Given the description of an element on the screen output the (x, y) to click on. 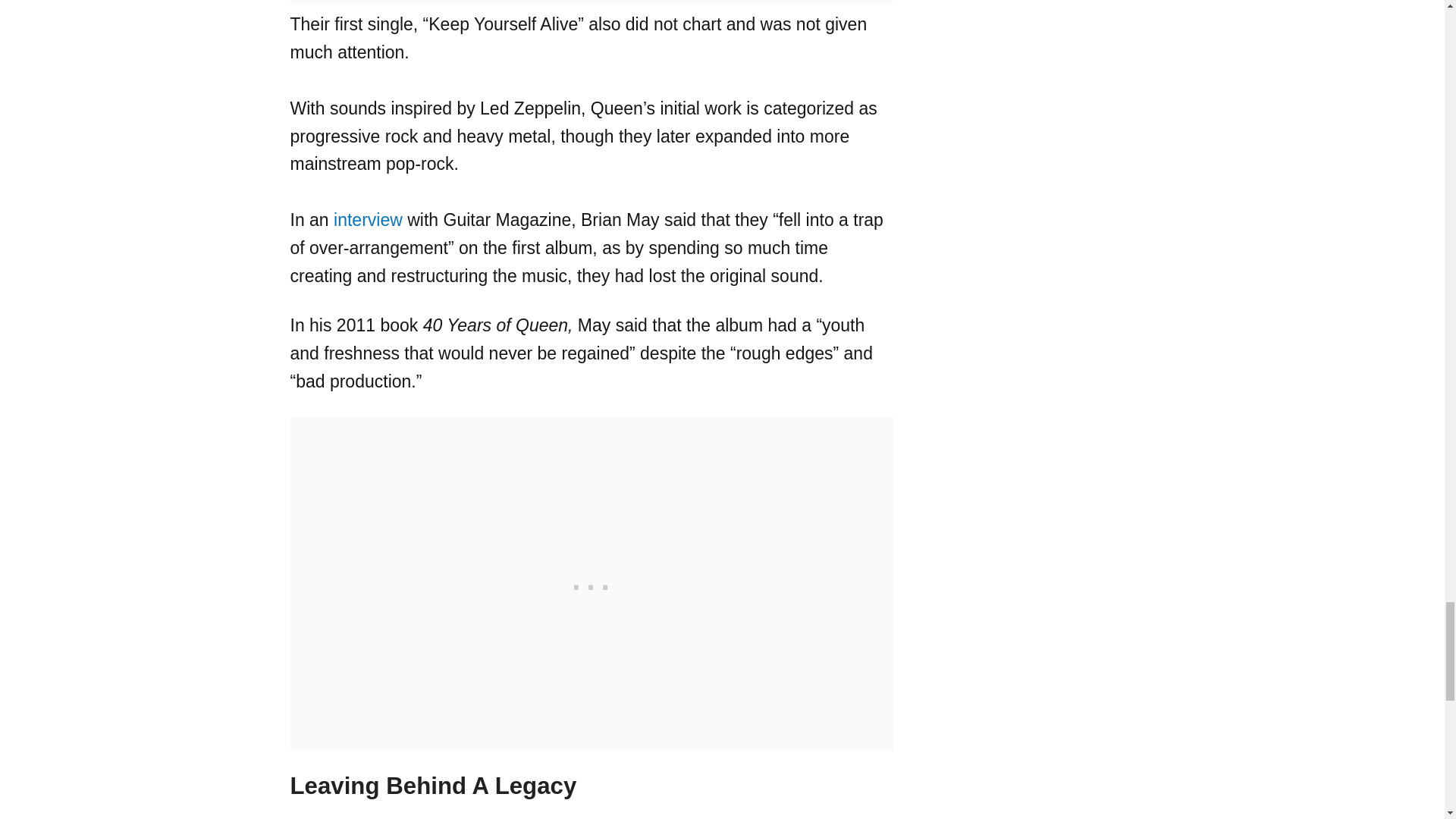
charted (409, 818)
interview (368, 219)
